Given the description of an element on the screen output the (x, y) to click on. 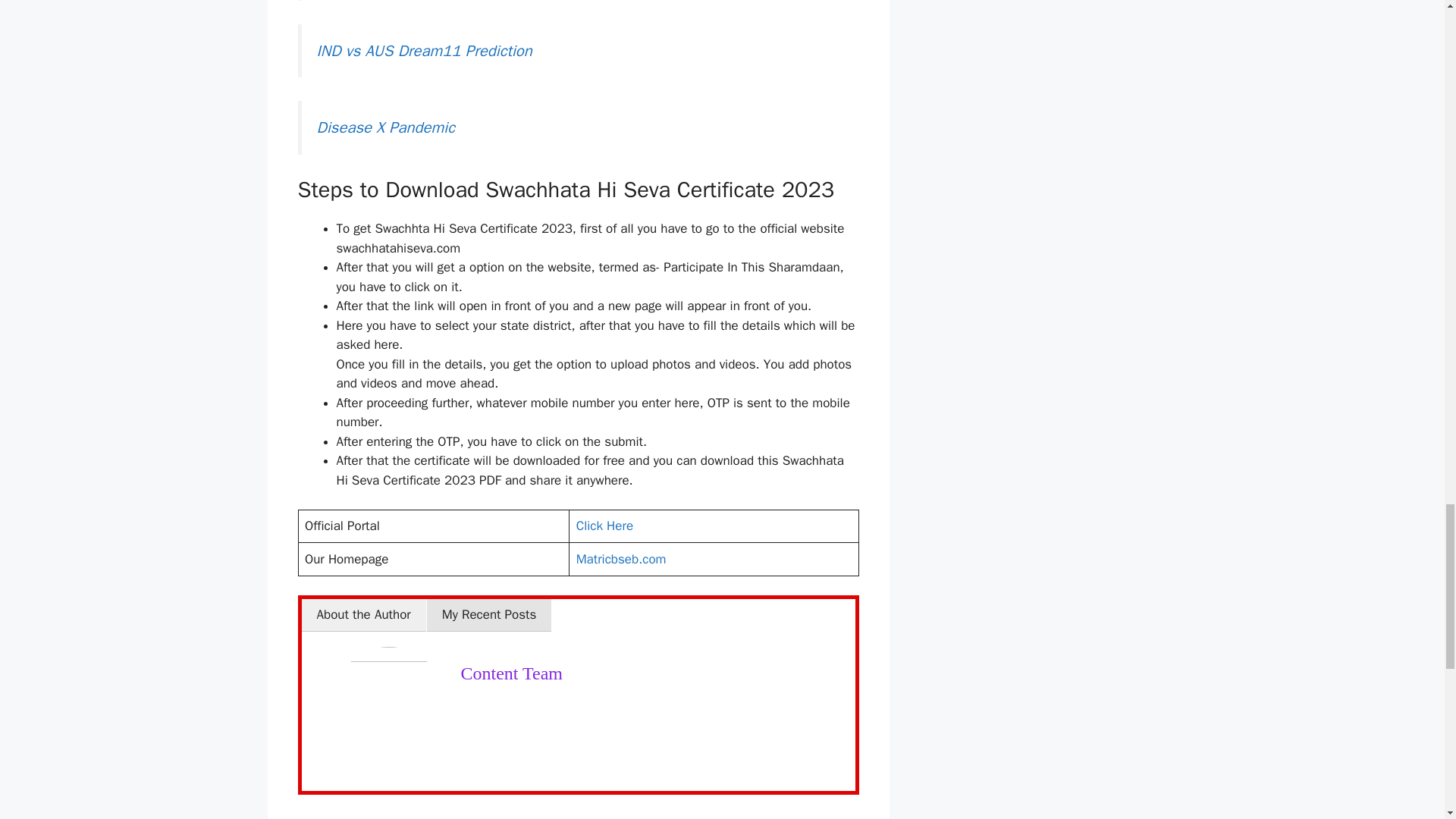
Content Team (512, 673)
Sarkari Yojana (349, 817)
Matricbseb.com (621, 559)
Click Here (604, 525)
IND vs AUS Dream11 Prediction (424, 50)
Disease X Pandemic (385, 127)
